Given the description of an element on the screen output the (x, y) to click on. 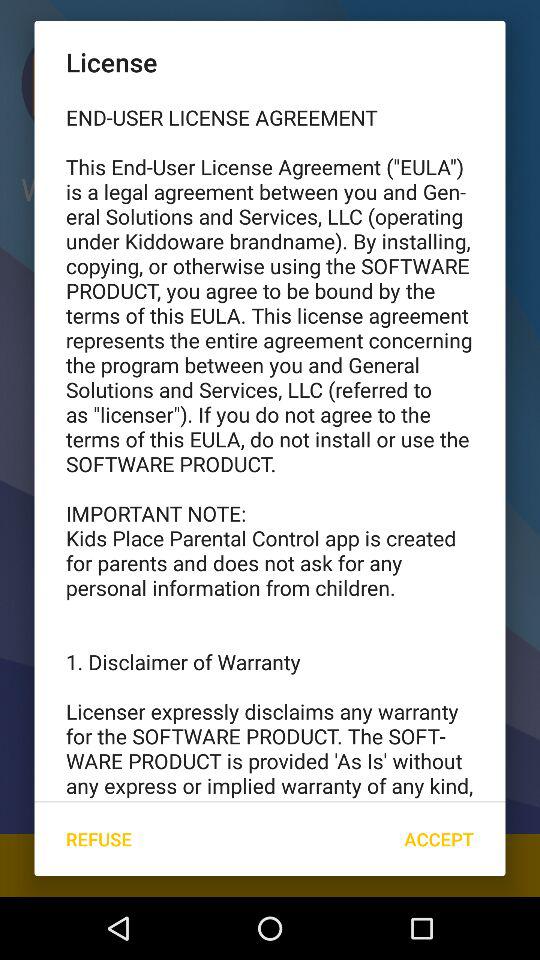
select item at the bottom right corner (438, 838)
